Given the description of an element on the screen output the (x, y) to click on. 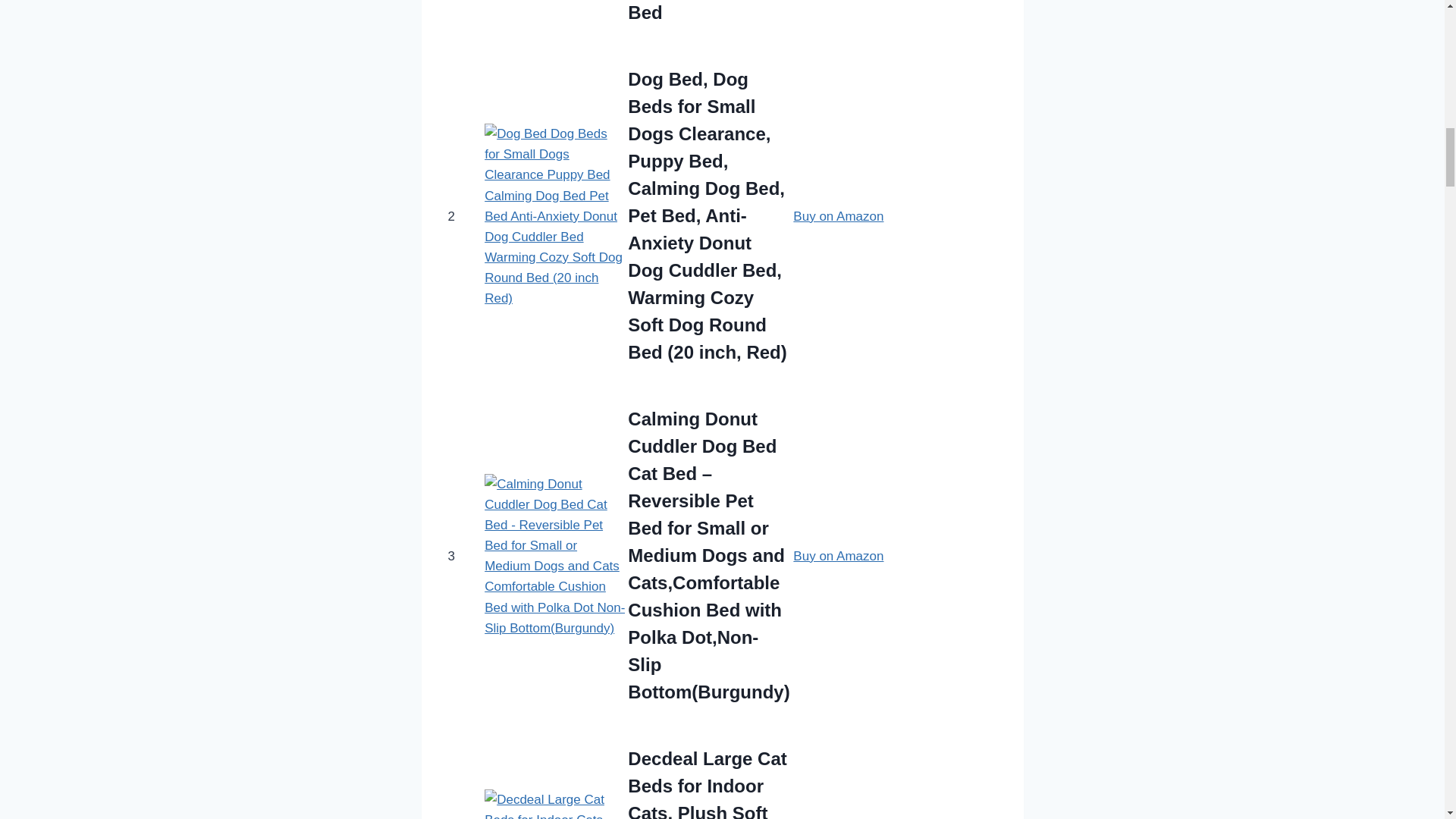
Buy on Amazon (838, 555)
Buy on Amazon (838, 216)
